Given the description of an element on the screen output the (x, y) to click on. 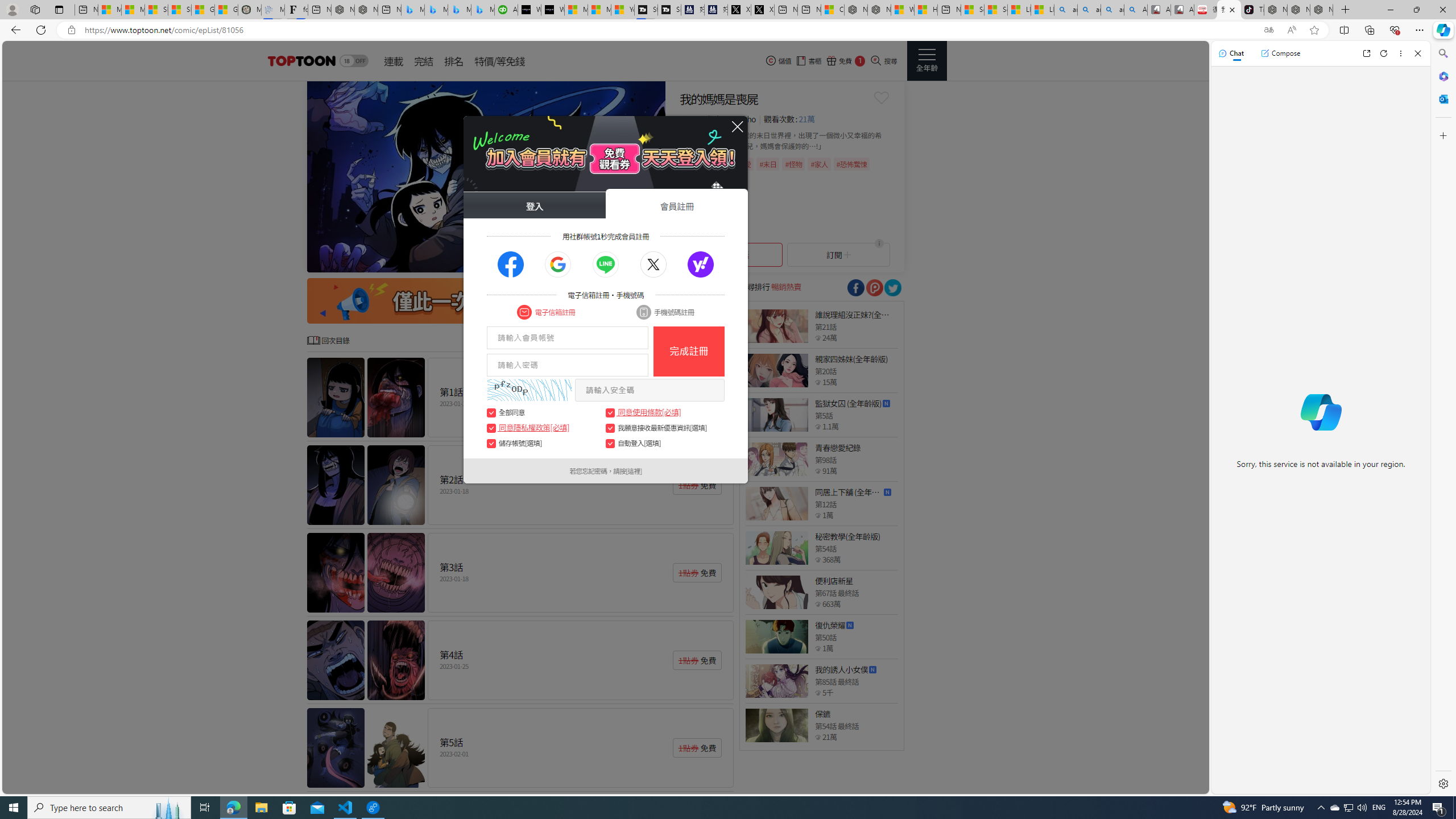
Huge shark washes ashore at New York City beach | Watch (926, 9)
More options (1401, 53)
Open link in new tab (1366, 53)
